Given the description of an element on the screen output the (x, y) to click on. 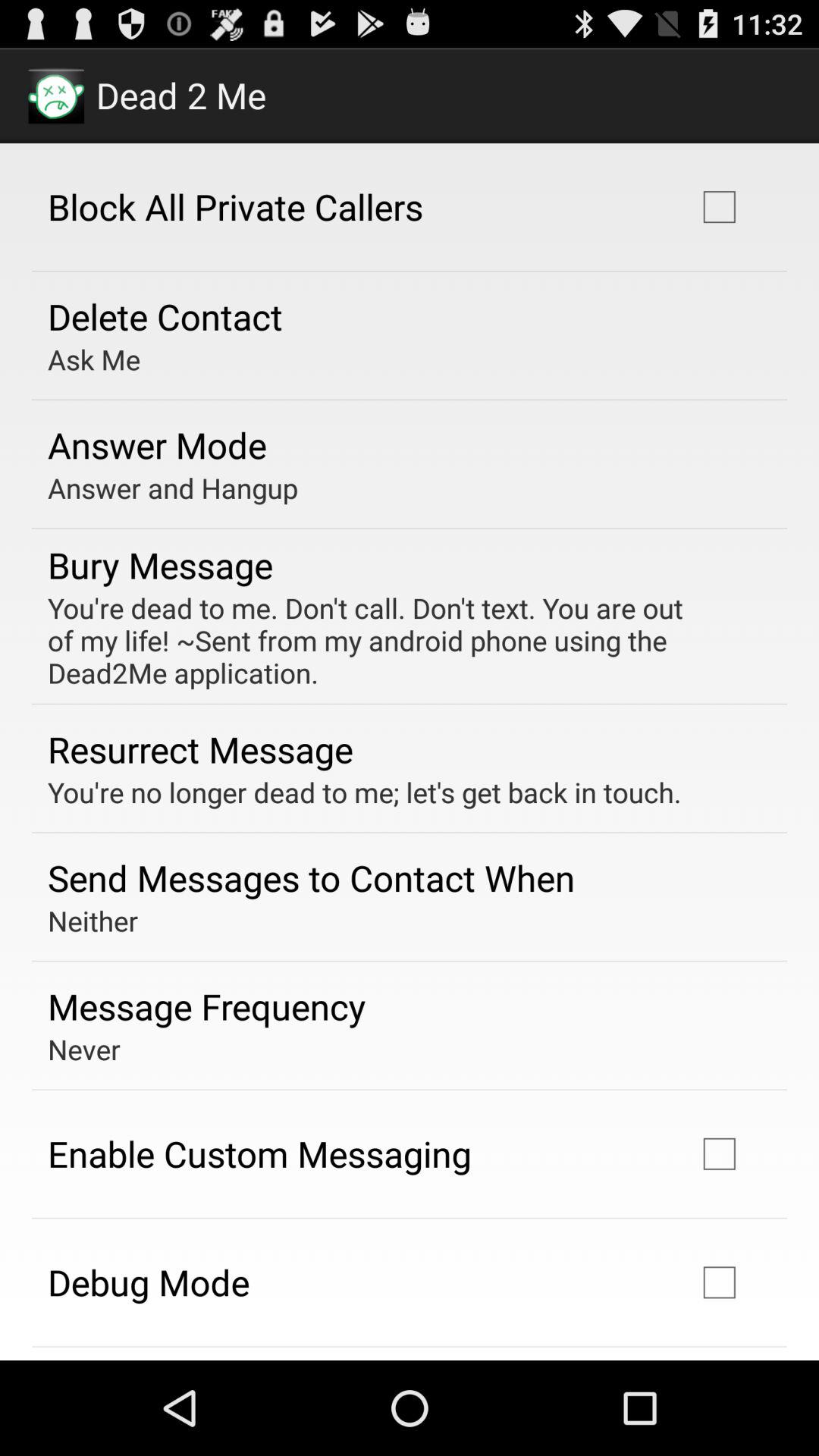
press app below enable custom messaging icon (148, 1282)
